Given the description of an element on the screen output the (x, y) to click on. 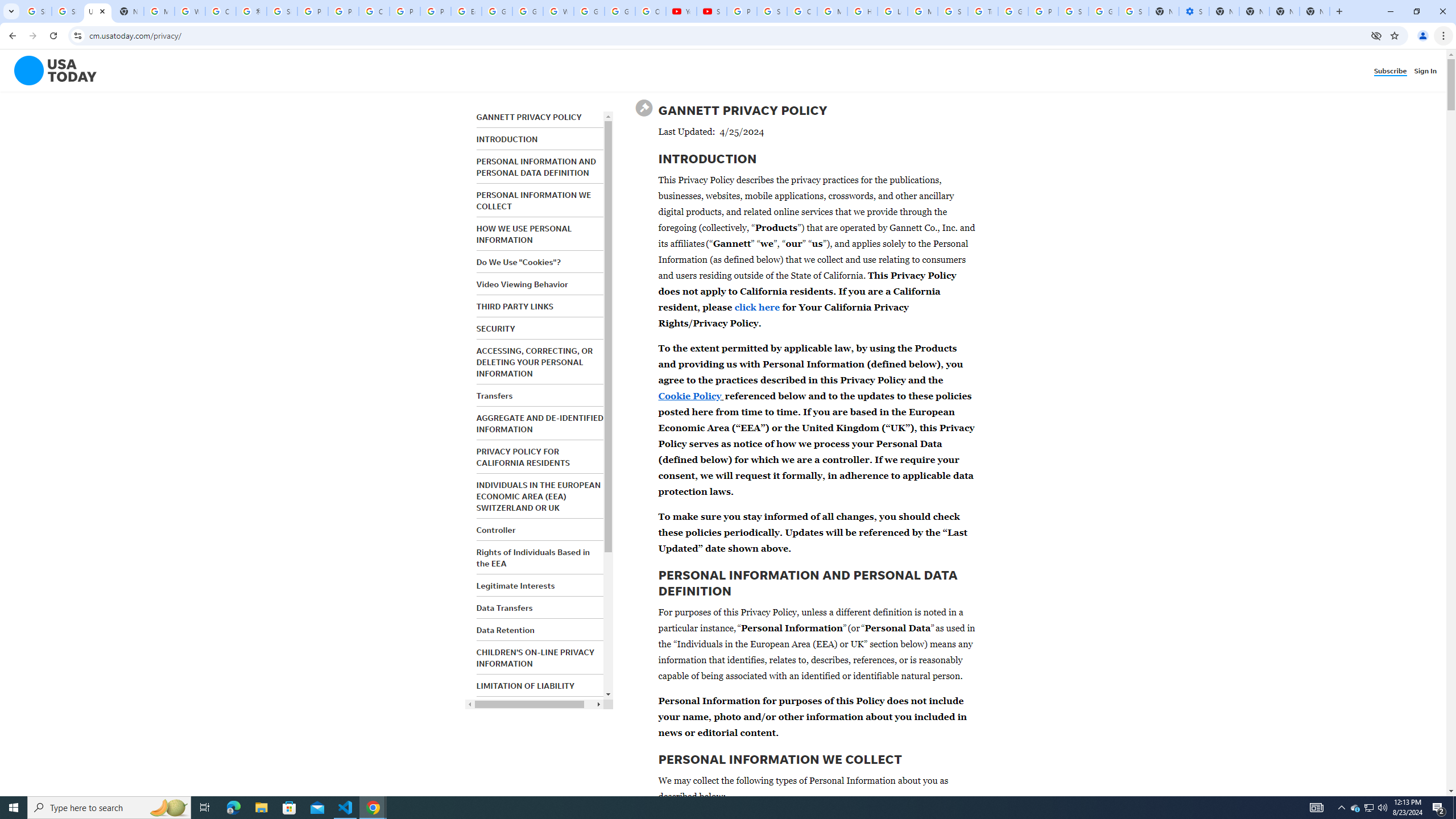
To get missing image descriptions, open the context menu. (48, 70)
Video Viewing Behavior (521, 284)
Trusted Information and Content - Google Safety Center (982, 11)
USA TODAY (97, 11)
Transfers (494, 395)
GANNETT PRIVACY POLICY (529, 117)
Cookie Policy (690, 395)
